Given the description of an element on the screen output the (x, y) to click on. 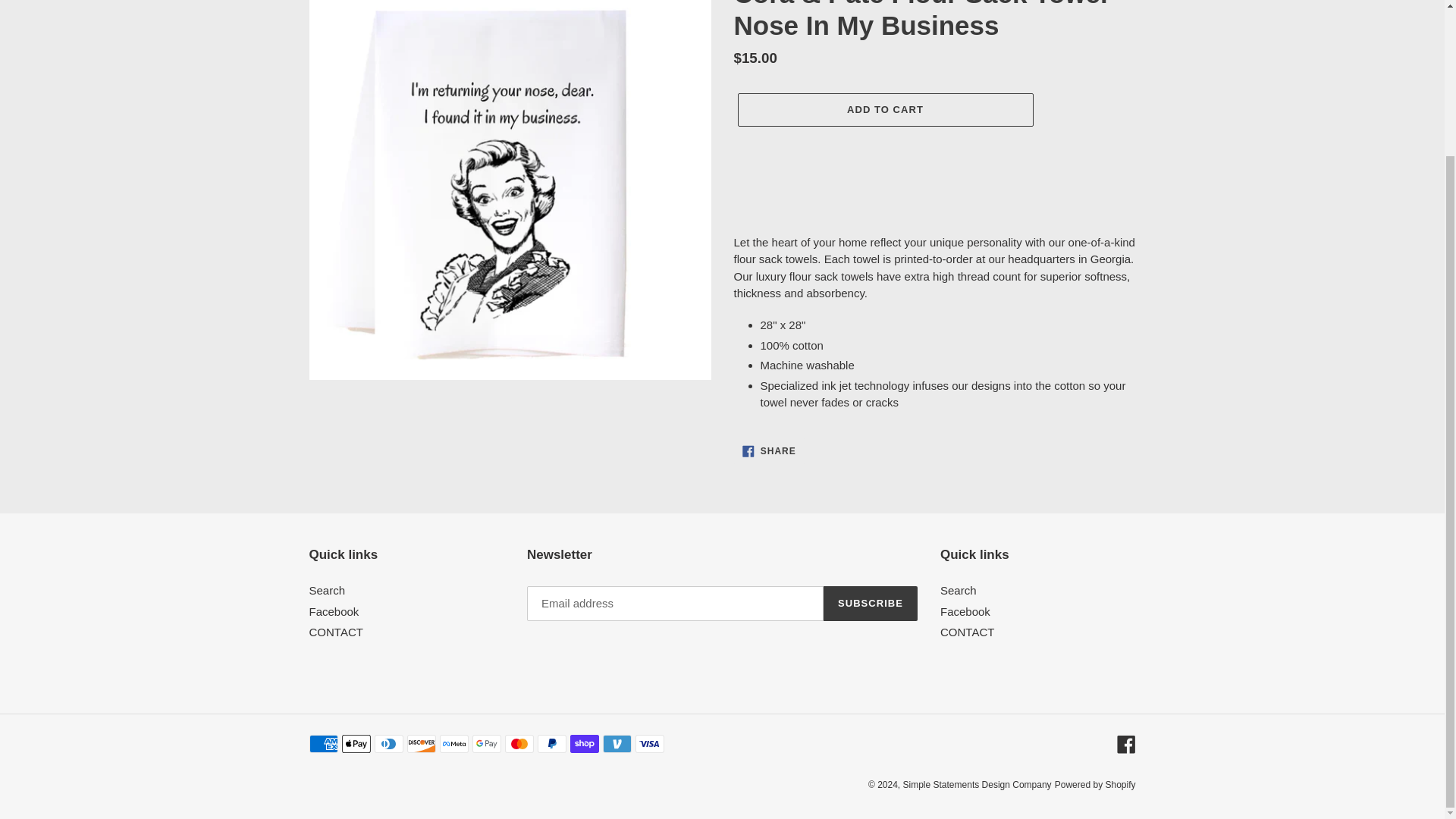
SUBSCRIBE (870, 603)
Powered by Shopify (1094, 784)
Facebook (1125, 743)
Search (327, 590)
Search (769, 451)
CONTACT (958, 590)
Facebook (335, 631)
Facebook (965, 611)
Simple Statements Design Company (333, 611)
